Given the description of an element on the screen output the (x, y) to click on. 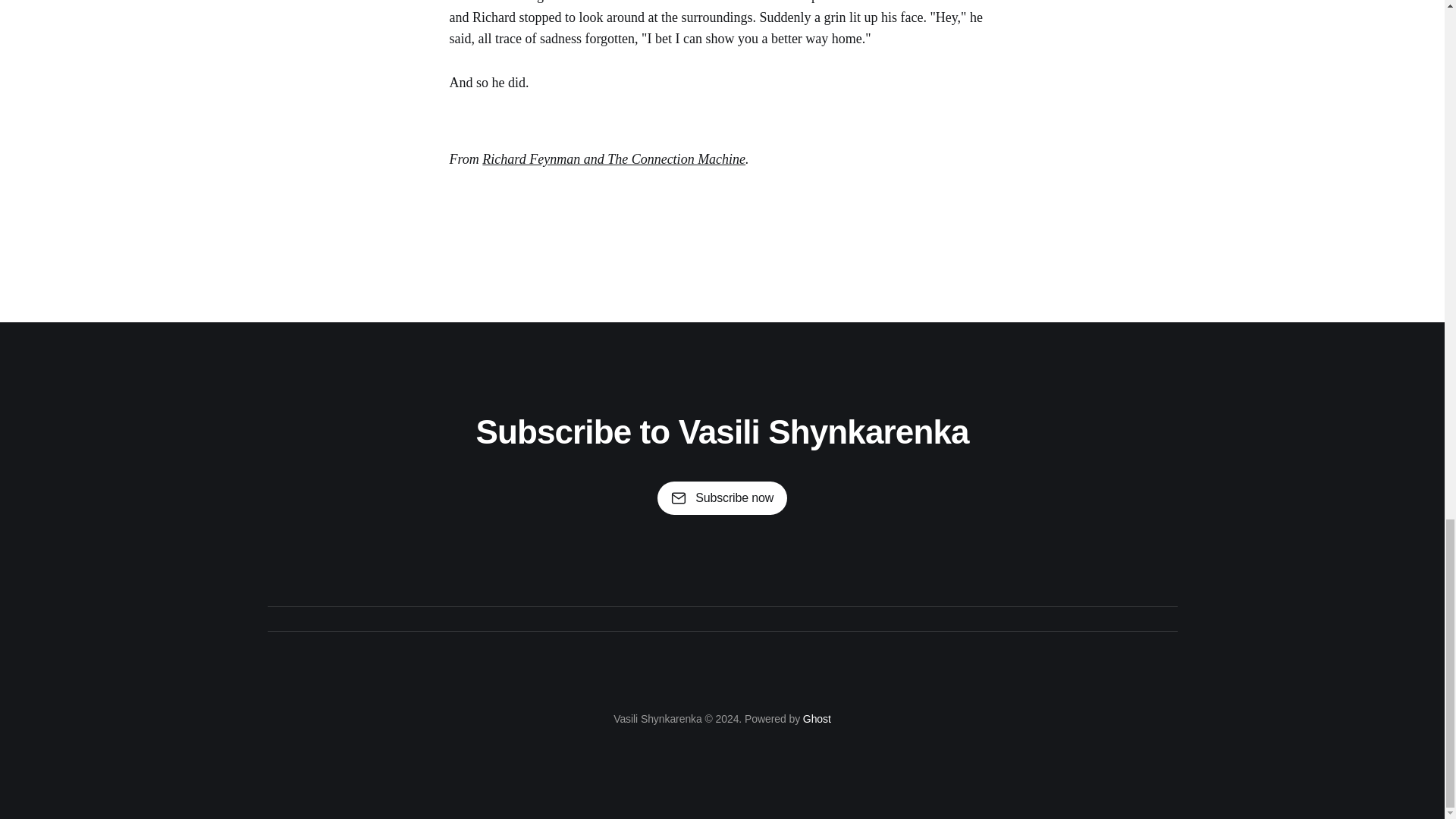
Richard Feynman and The Connection Machine (613, 159)
Ghost (817, 718)
Subscribe now (722, 498)
